Given the description of an element on the screen output the (x, y) to click on. 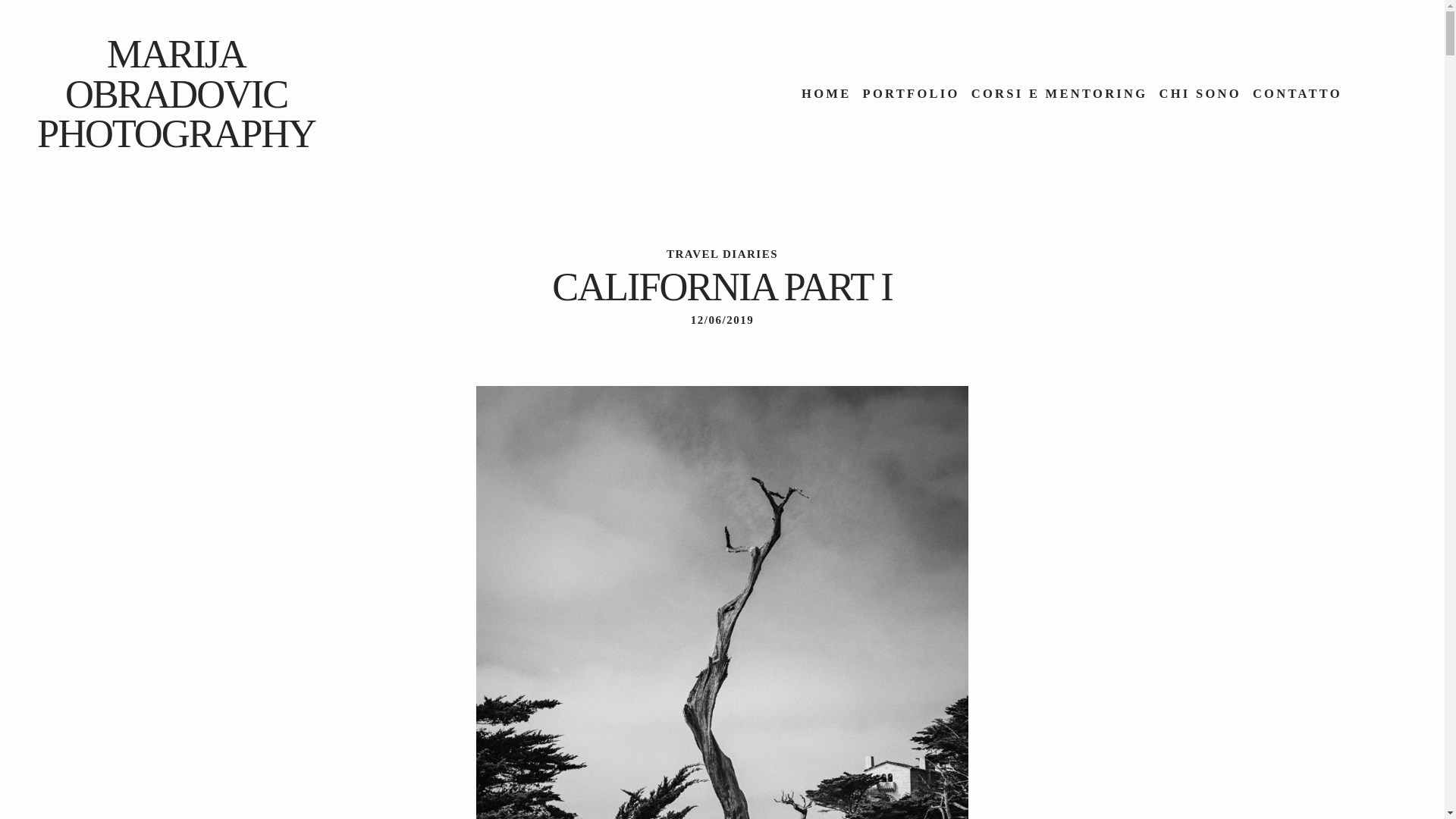
CONTATTO (1297, 94)
PORTFOLIO (911, 94)
CORSI E MENTORING (1059, 94)
CHI SONO (1199, 94)
TRAVEL DIARIES (721, 253)
HOME (826, 94)
MARIJA OBRADOVIC PHOTOGRAPHY (175, 93)
